Given the description of an element on the screen output the (x, y) to click on. 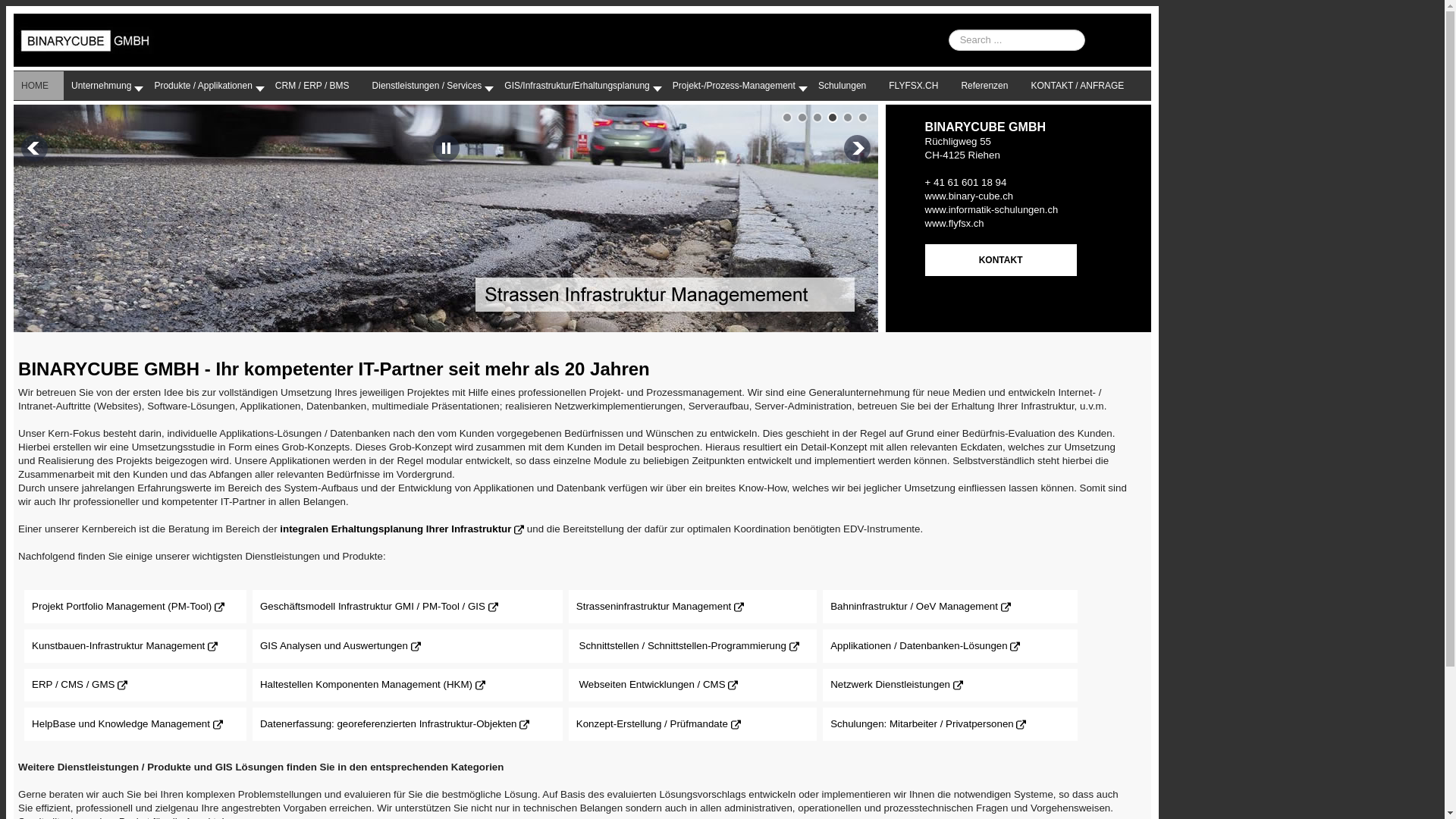
Schnittstellen / Schnittstellen-Programmierung Element type: text (682, 645)
Strasseninfrastruktur Management Element type: text (653, 605)
Referenzen Element type: text (987, 85)
integralen Erhaltungsplanung Ihrer Infrastruktur Element type: text (395, 528)
Haltestellen Komponenten Management (HKM) Element type: text (366, 684)
HelpBase und Knowledge Management Element type: text (120, 723)
KONTAKT Element type: text (1000, 260)
www.informatik-schulungen.ch Element type: text (991, 209)
Dienstleistungen / Services Element type: text (430, 85)
Webseiten Entwicklungen / CMS Element type: text (652, 684)
Netzwerk Dienstleistungen Element type: text (890, 684)
www.binary-cube.ch Element type: text (969, 195)
Unternehmung Element type: text (104, 85)
CRM / ERP / BMS Element type: text (315, 85)
Kunstbauen-Infrastruktur Management Element type: text (117, 645)
GIS Analysen und Auswertungen Element type: text (333, 645)
Projekt-/Prozess-Management Element type: text (737, 85)
HOME Element type: text (38, 85)
ERP / CMS / GMS Element type: text (72, 684)
KONTAKT / ANFRAGE Element type: text (1080, 85)
Schulungen Element type: text (845, 85)
Bahninfrastruktur / OeV Management Element type: text (913, 605)
GIS/Infrastruktur/Erhaltungsplanung Element type: text (580, 85)
Produkte / Applikationen Element type: text (206, 85)
Datenerfassung: georeferenzierten Infrastruktur-Objekten Element type: text (388, 723)
www.flyfsx.ch Element type: text (954, 223)
FLYFSX.CH Element type: text (917, 85)
Projekt Portfolio Management (PM-Tool) Element type: text (121, 605)
Schulungen: Mitarbeiter / Privatpersonen Element type: text (921, 723)
